Given the description of an element on the screen output the (x, y) to click on. 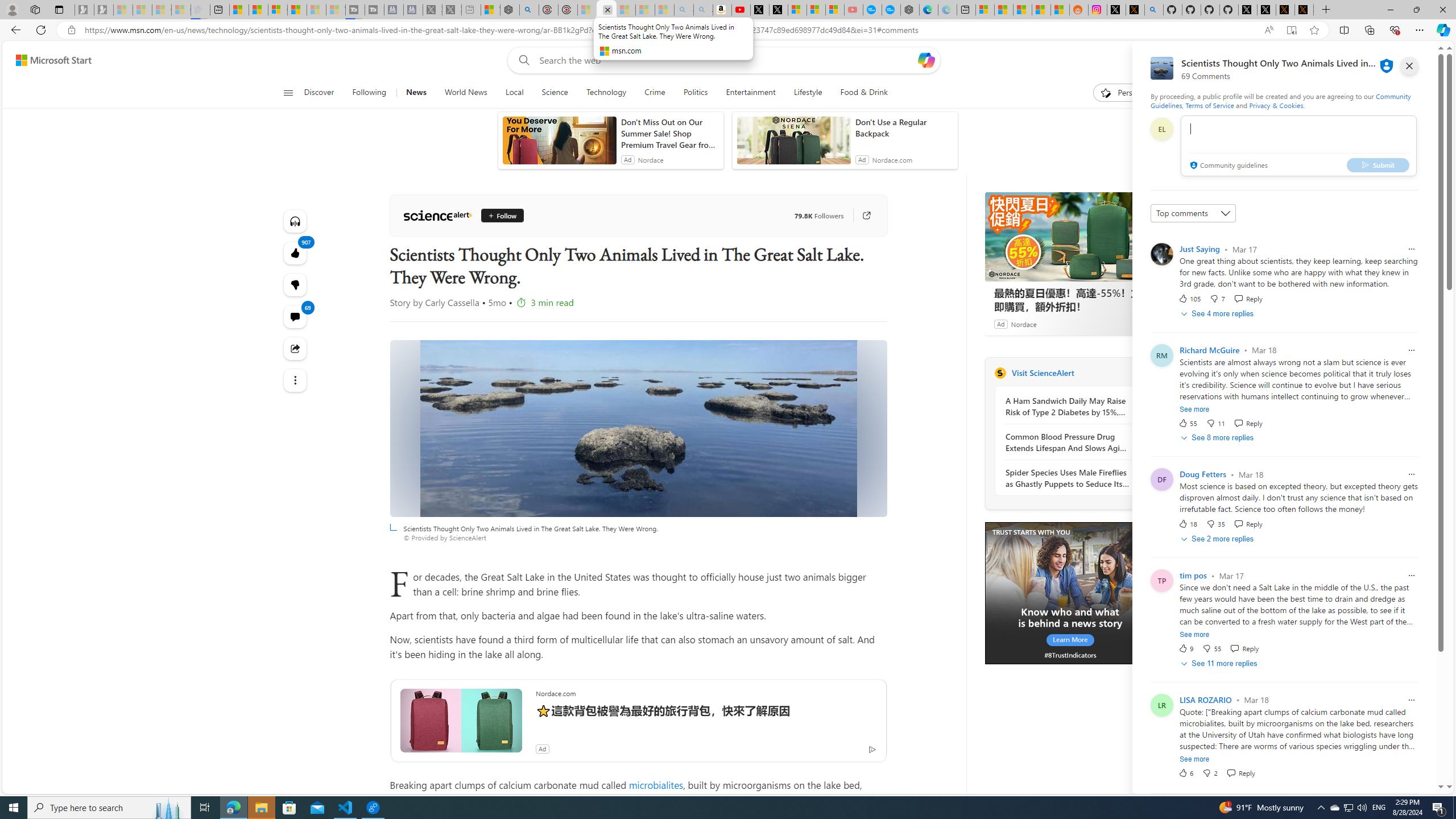
World News (465, 92)
See 2 more replies (1218, 539)
ScienceAlert (437, 215)
Don't Use a Regular Backpack (903, 127)
tim pos (1193, 575)
